Given the description of an element on the screen output the (x, y) to click on. 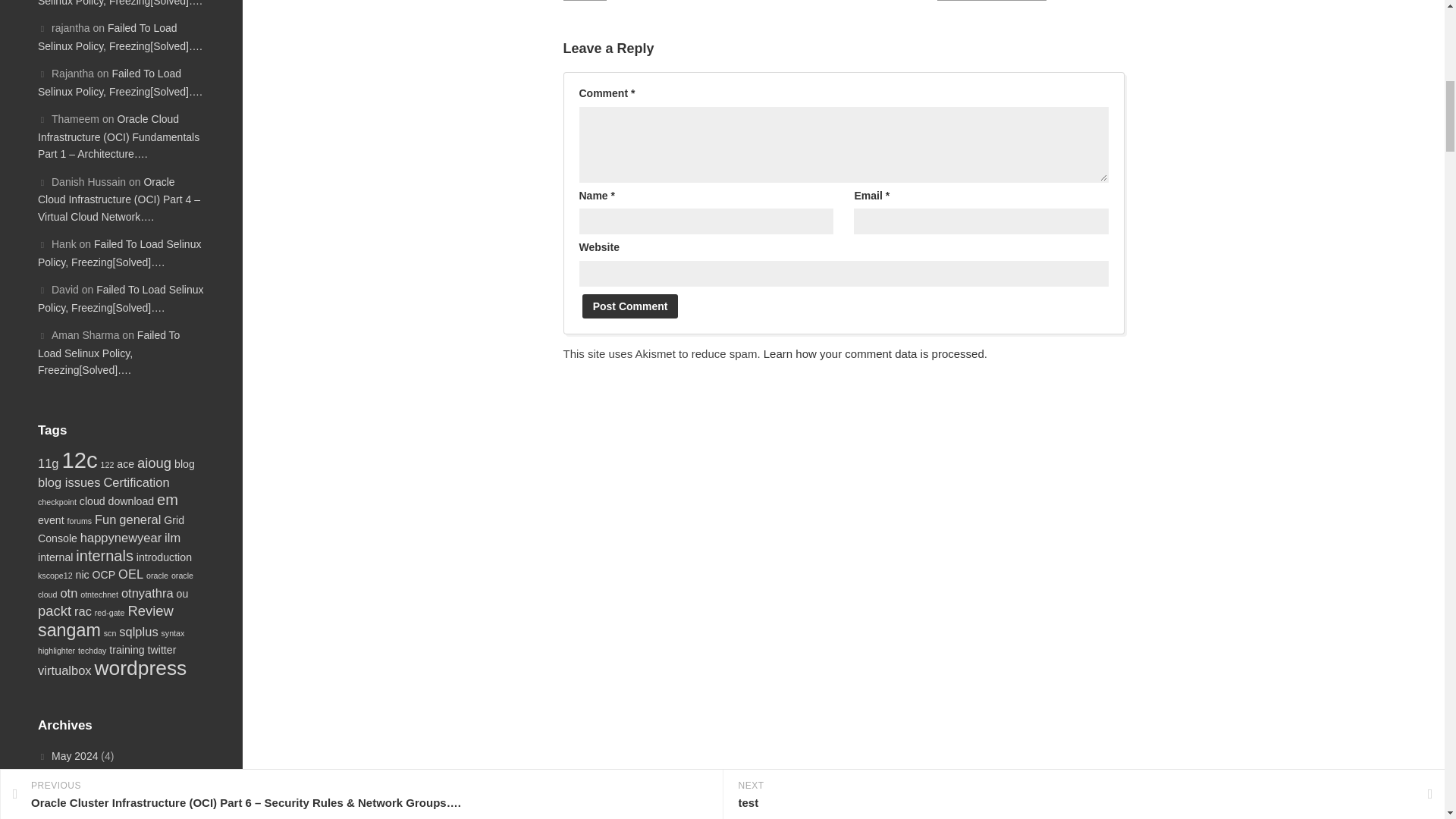
Post Comment (630, 306)
Post Comment (630, 306)
Learn how your comment data is processed (873, 353)
